Given the description of an element on the screen output the (x, y) to click on. 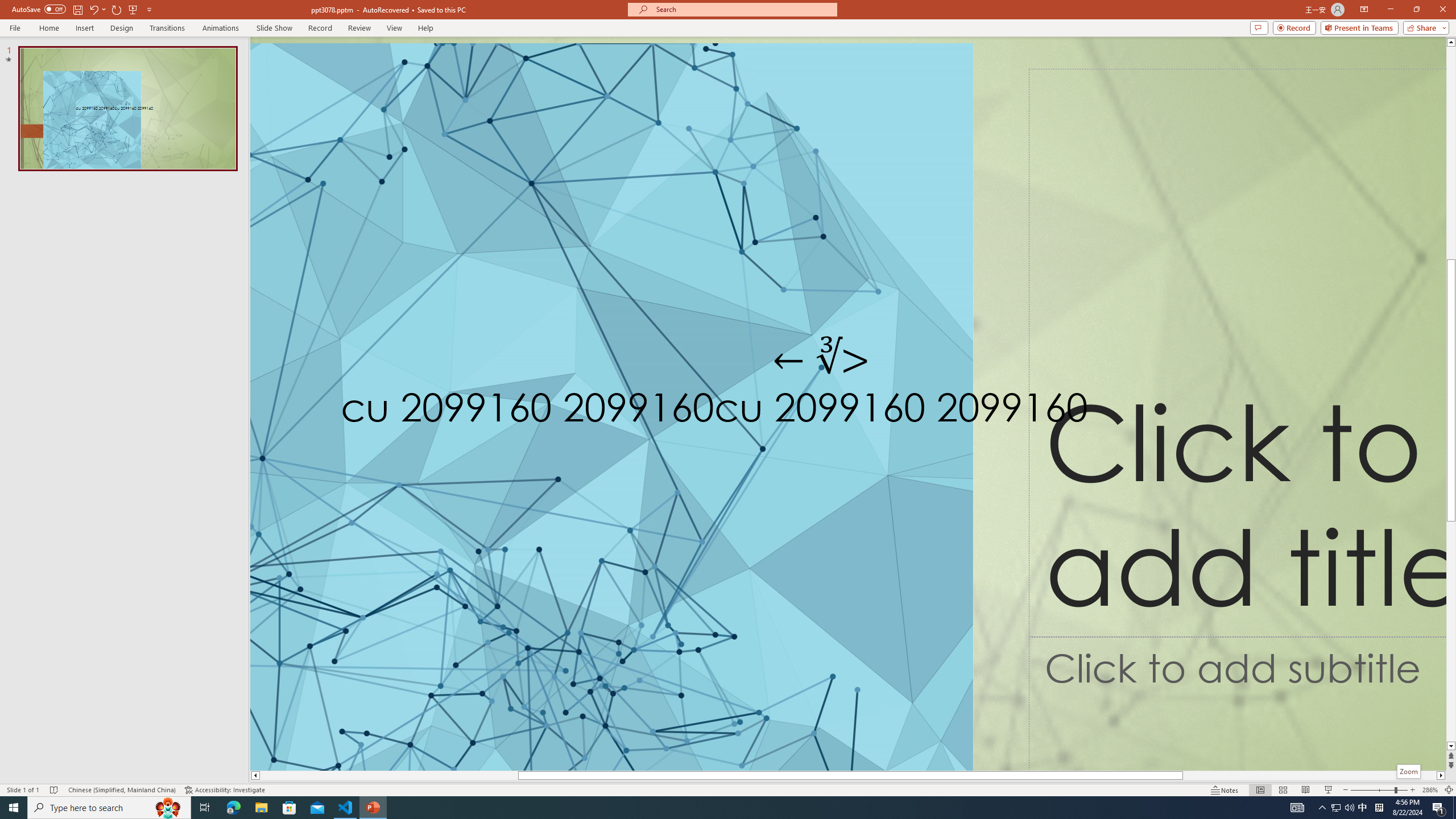
Zoom 286% (1430, 790)
